Given the description of an element on the screen output the (x, y) to click on. 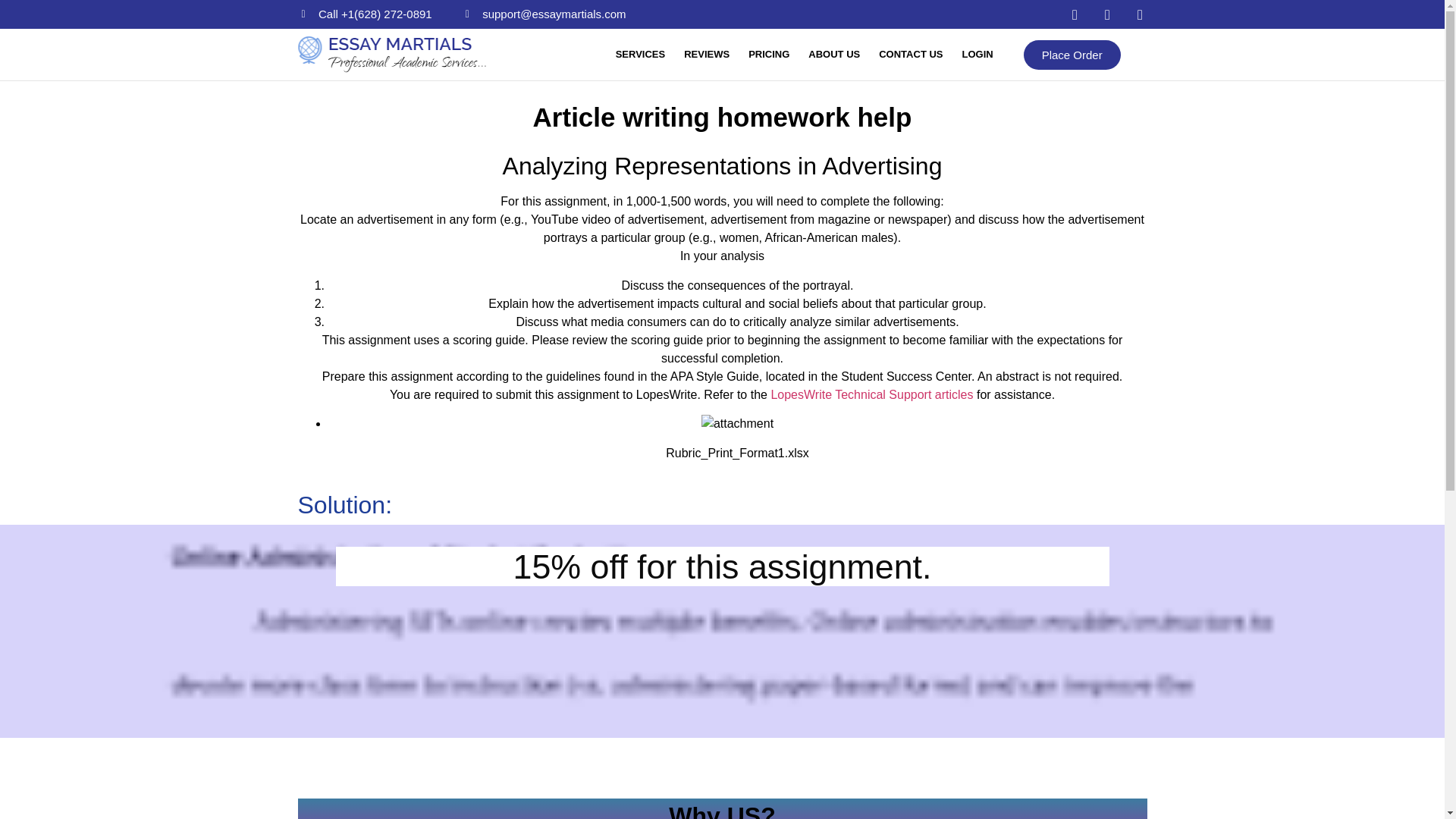
LopesWrite Technical Support articles (871, 394)
LOGIN (976, 54)
Place Order (1072, 53)
SERVICES (640, 54)
PRICING (769, 54)
ABOUT US (834, 54)
CONTACT US (910, 54)
REVIEWS (706, 54)
